Given the description of an element on the screen output the (x, y) to click on. 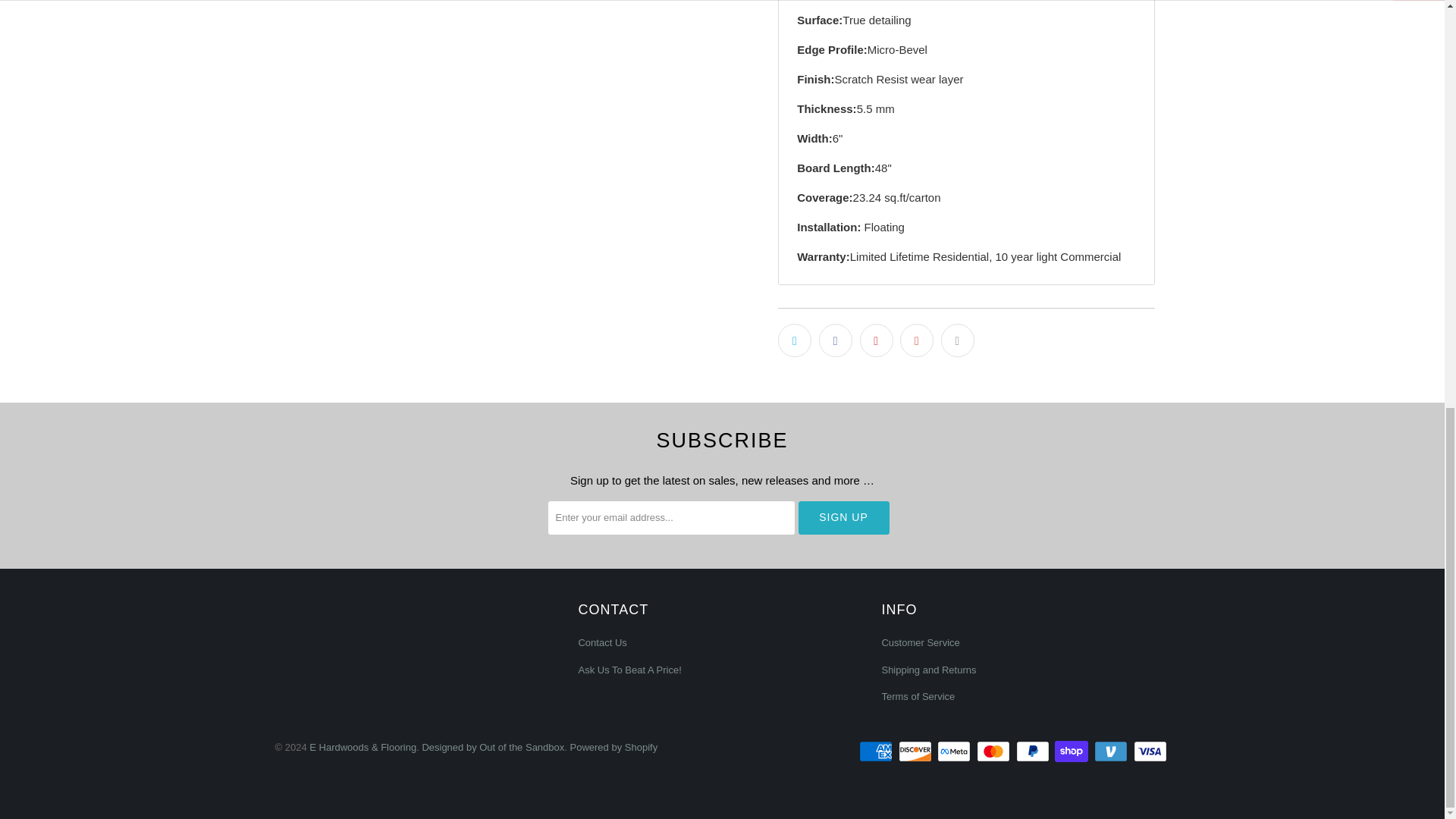
Share this on Facebook (834, 340)
PayPal (1034, 751)
Meta Pay (955, 751)
Visa (1150, 751)
Sign Up (842, 517)
Share this on Twitter (793, 340)
American Express (877, 751)
Discover (916, 751)
Shop Pay (1072, 751)
Email this to a friend (957, 340)
